Given the description of an element on the screen output the (x, y) to click on. 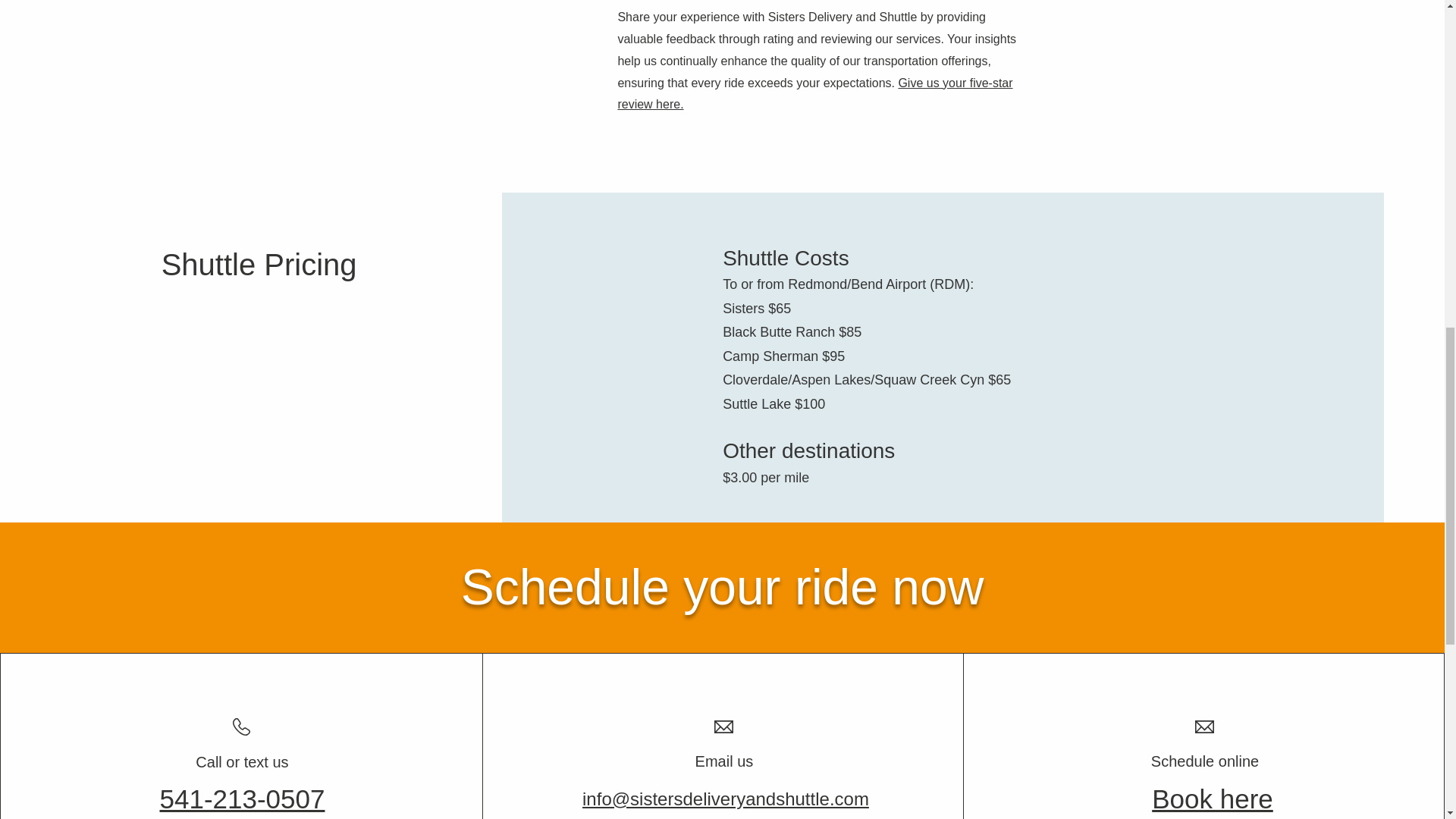
541-213-0507 (241, 798)
Book here (1211, 798)
Give us your five-star review here. (814, 93)
